Given the description of an element on the screen output the (x, y) to click on. 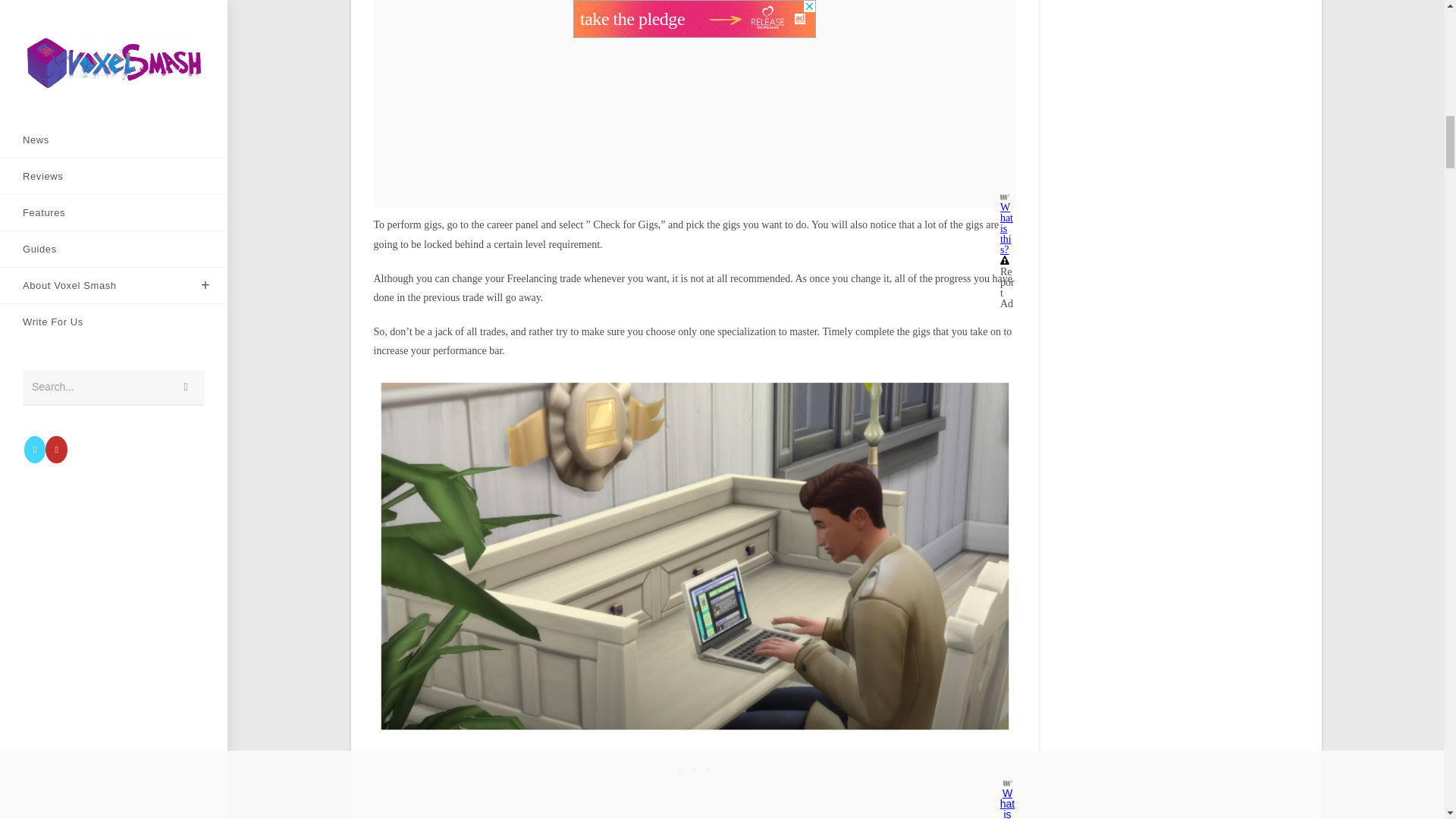
3rd party ad content (694, 771)
